Given the description of an element on the screen output the (x, y) to click on. 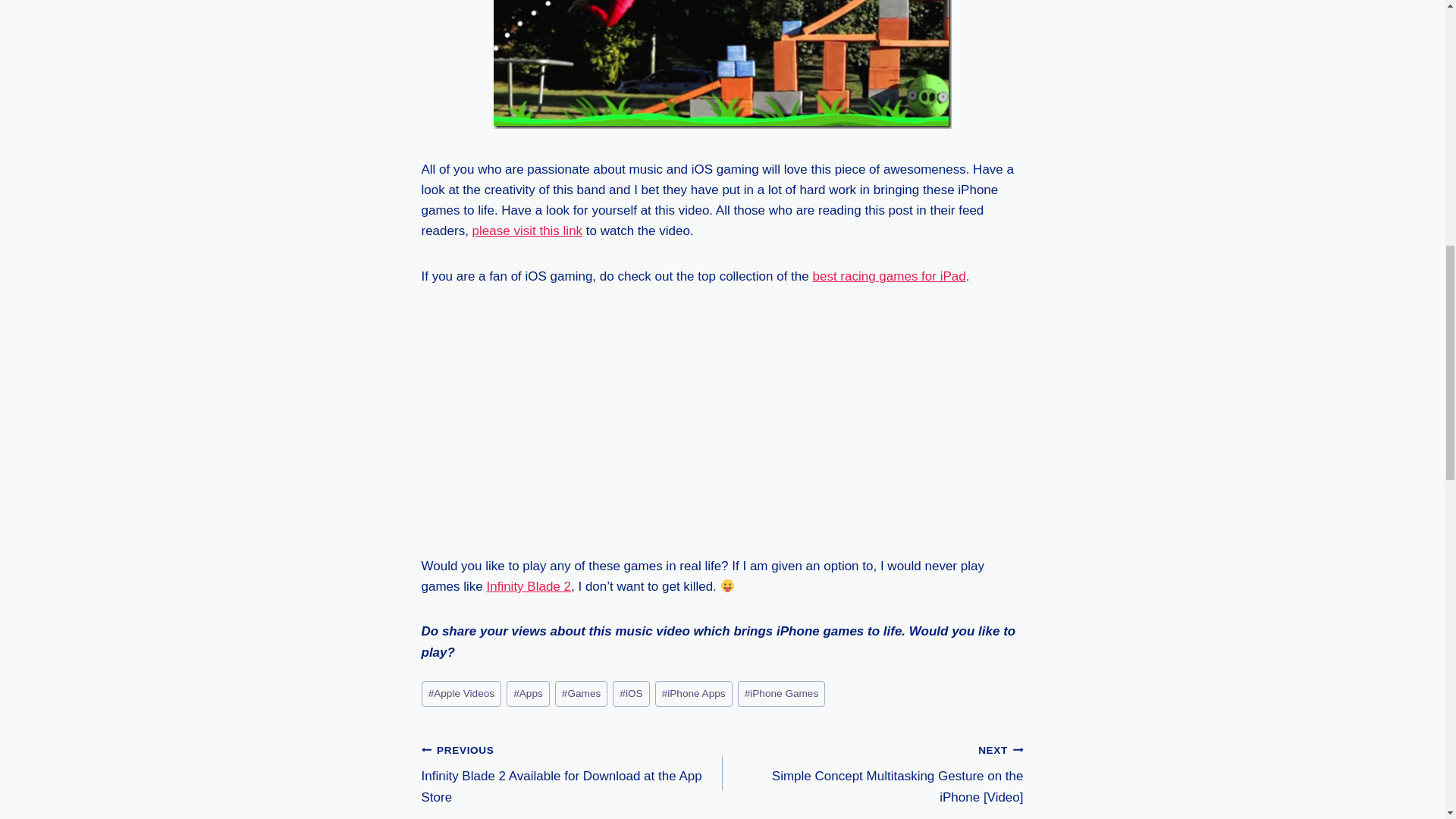
iPhone Apps (693, 693)
Apple Videos (462, 693)
Apps (528, 693)
iPhone Games in Real Life (721, 64)
iPhone Games (781, 693)
Games (581, 693)
iOS (630, 693)
